Given the description of an element on the screen output the (x, y) to click on. 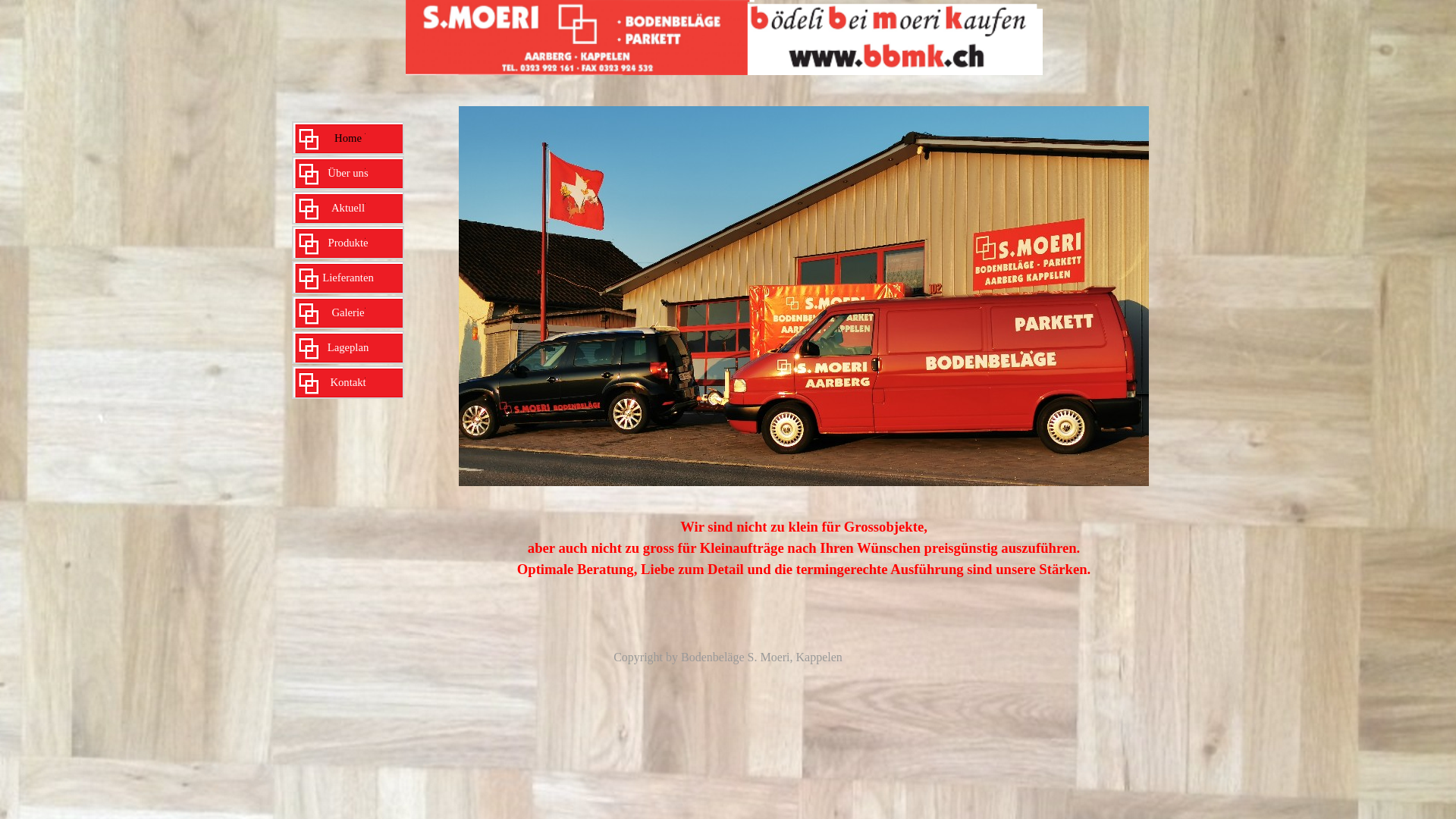
Kontakt Element type: text (347, 382)
Home Element type: text (347, 137)
Aktuell Element type: text (347, 207)
Galerie Element type: text (347, 312)
Lieferanten Element type: text (347, 277)
Lageplan Element type: text (347, 347)
